Given the description of an element on the screen output the (x, y) to click on. 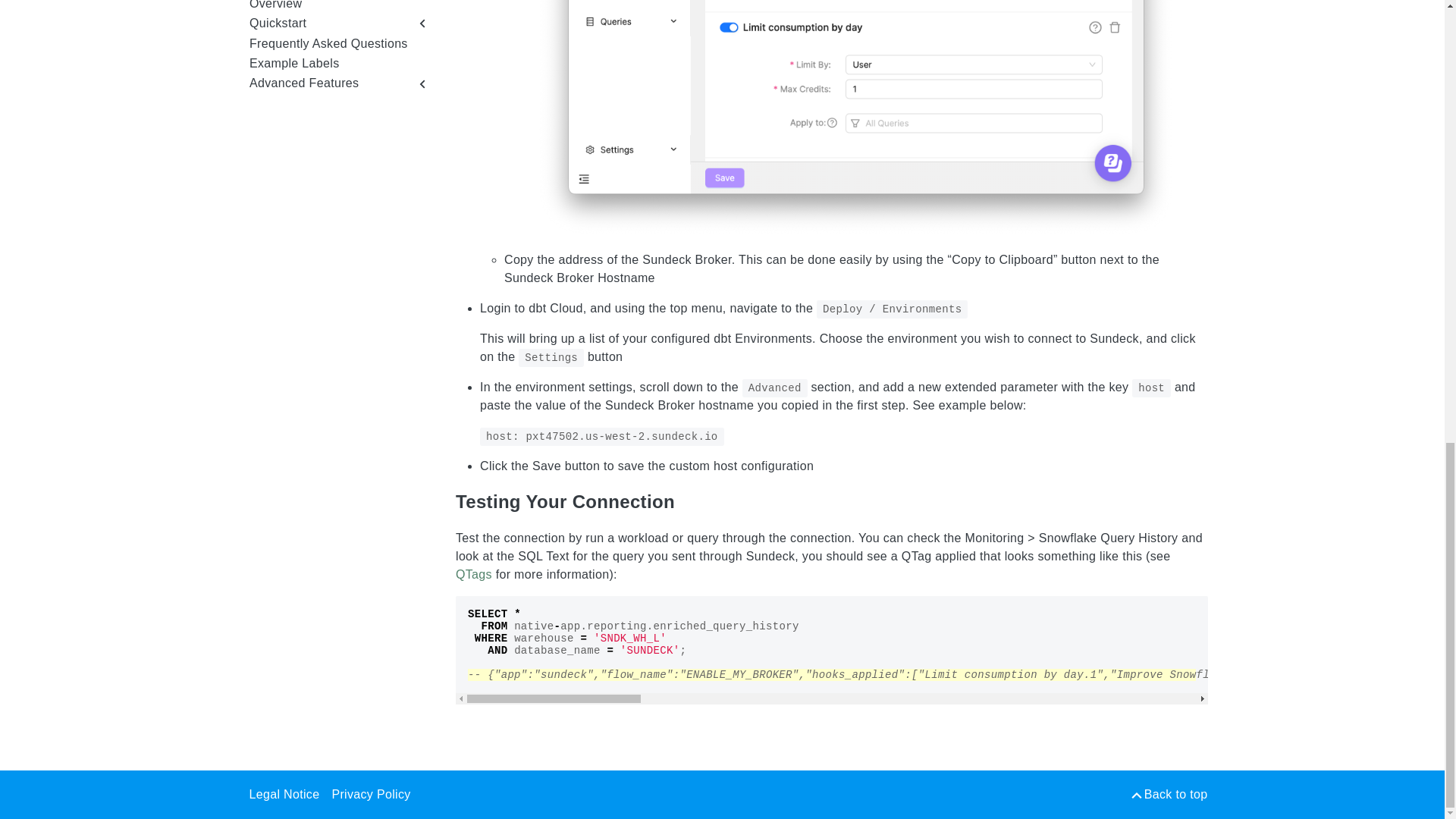
Anchor to: Testing Your Connection (691, 501)
